Given the description of an element on the screen output the (x, y) to click on. 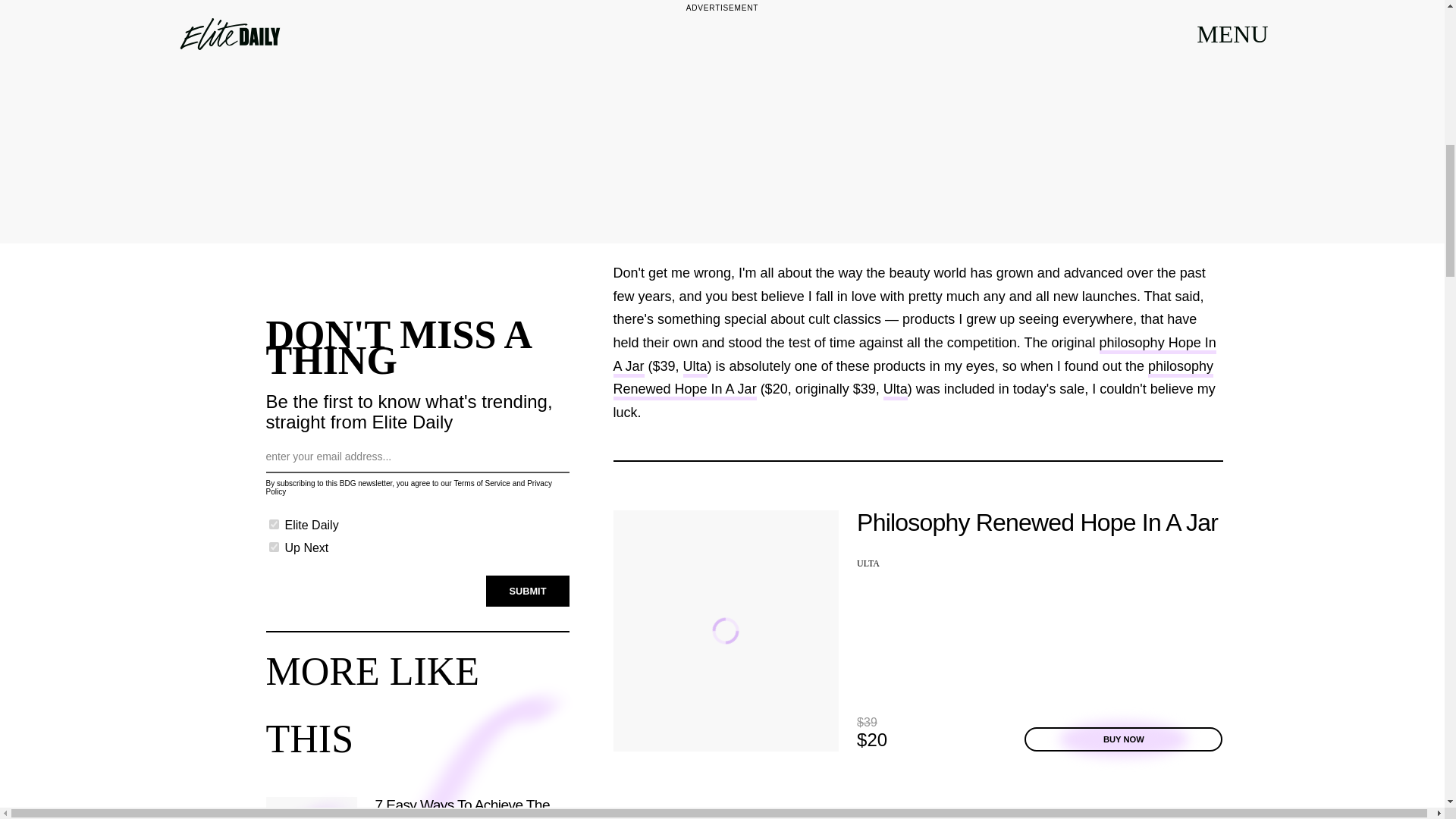
Ulta (694, 367)
SUBMIT (527, 591)
Ulta (895, 390)
philosophy Renewed Hope In A Jar (912, 379)
philosophy Hope In A Jar (913, 355)
BUY NOW (1124, 739)
Privacy Policy (407, 487)
Terms of Service (480, 483)
